Given the description of an element on the screen output the (x, y) to click on. 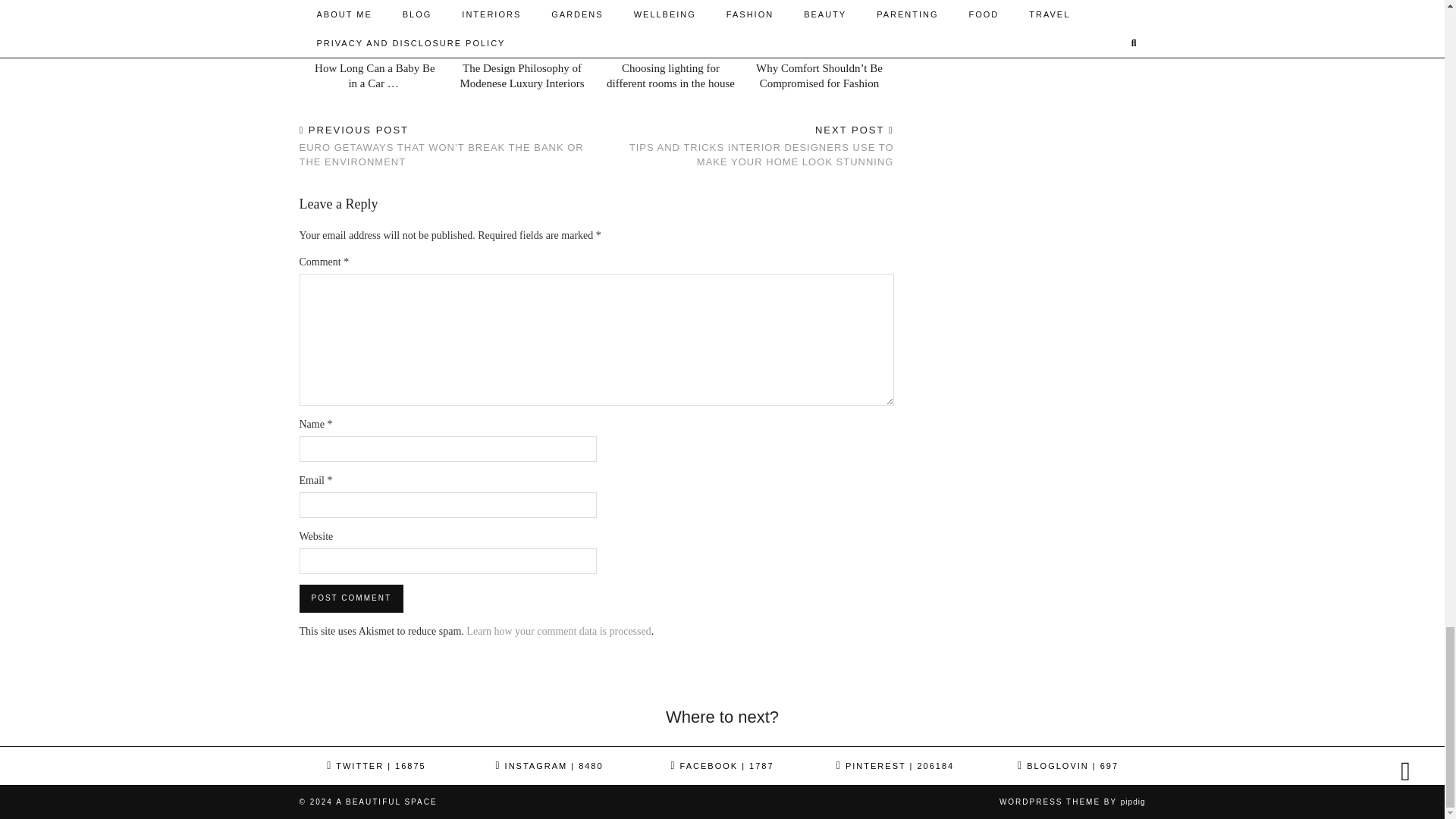
Choosing lighting for different rooms in the house (671, 75)
The Design Philosophy of Modenese Luxury Interiors (521, 75)
The Design Philosophy of Modenese Luxury Interiors (520, 28)
The Design Philosophy of Modenese Luxury Interiors (521, 75)
Learn how your comment data is processed (557, 631)
Choosing lighting for different rooms in the house (669, 28)
Choosing lighting for different rooms in the house (671, 75)
Post Comment (350, 597)
Post Comment (350, 597)
